Given the description of an element on the screen output the (x, y) to click on. 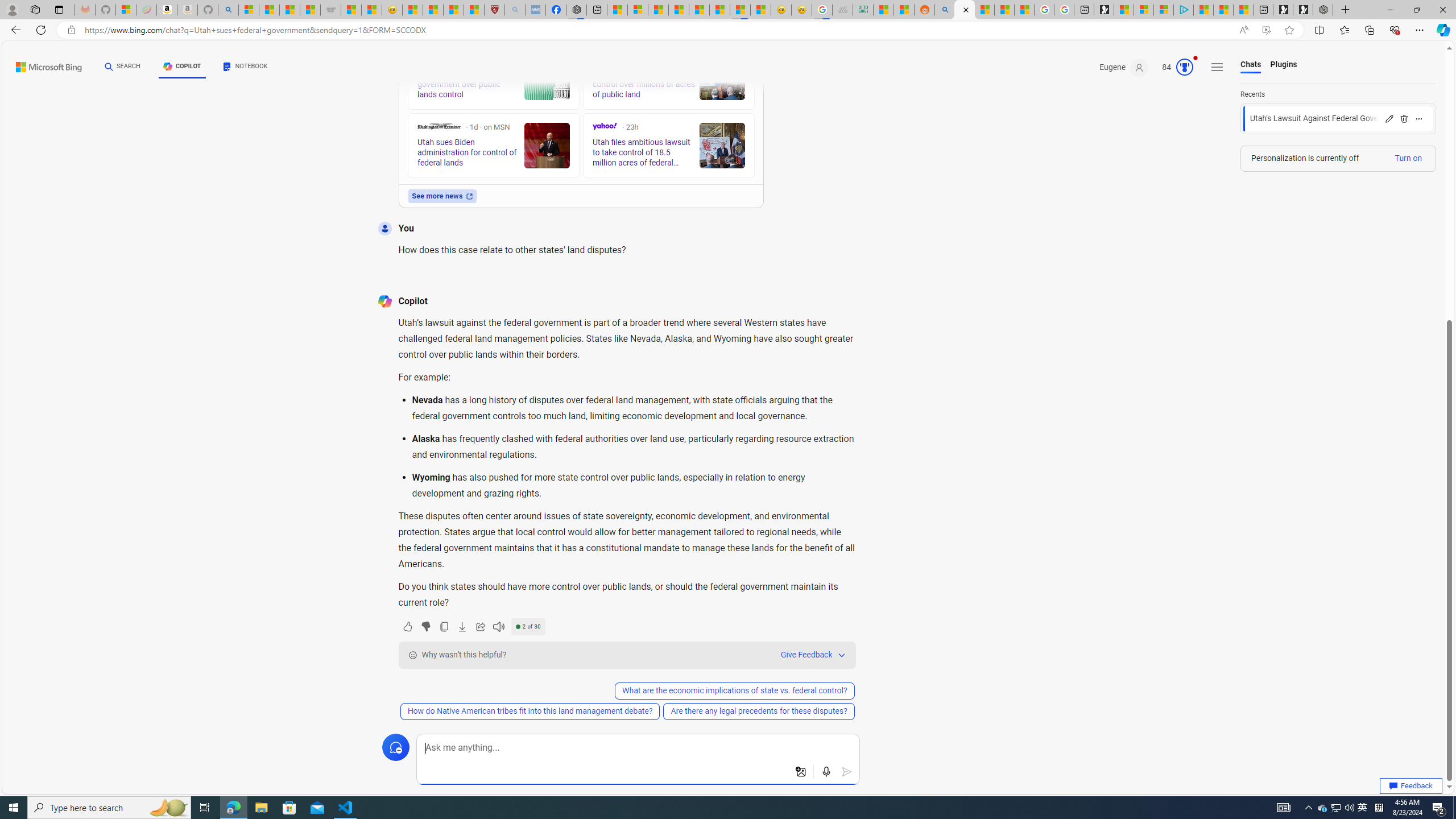
Rename (1388, 118)
See more news (441, 196)
Washington Examiner on MSN.com (438, 125)
NOTEBOOK (245, 66)
